Given the description of an element on the screen output the (x, y) to click on. 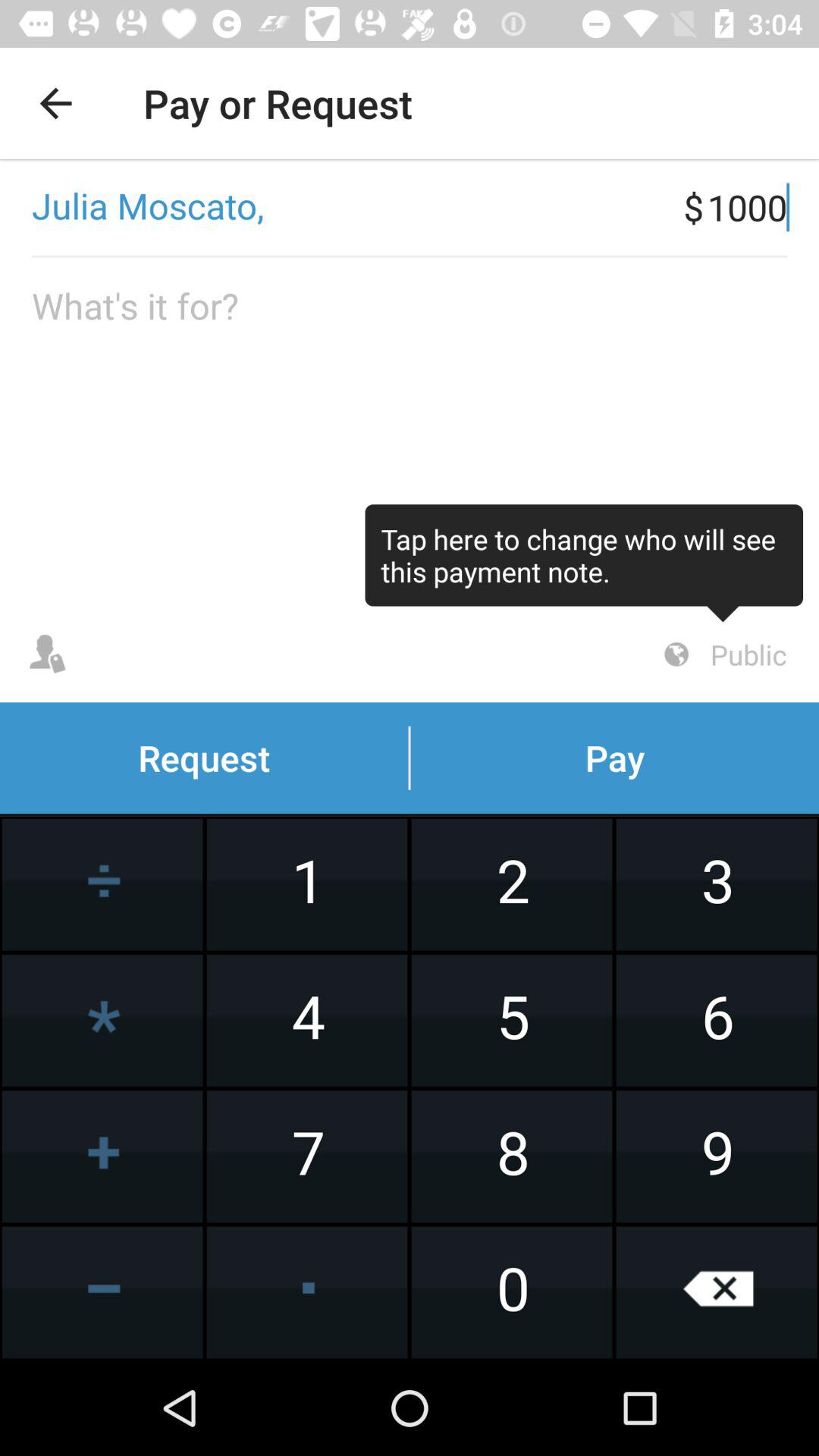
flip until ,  item (341, 207)
